Given the description of an element on the screen output the (x, y) to click on. 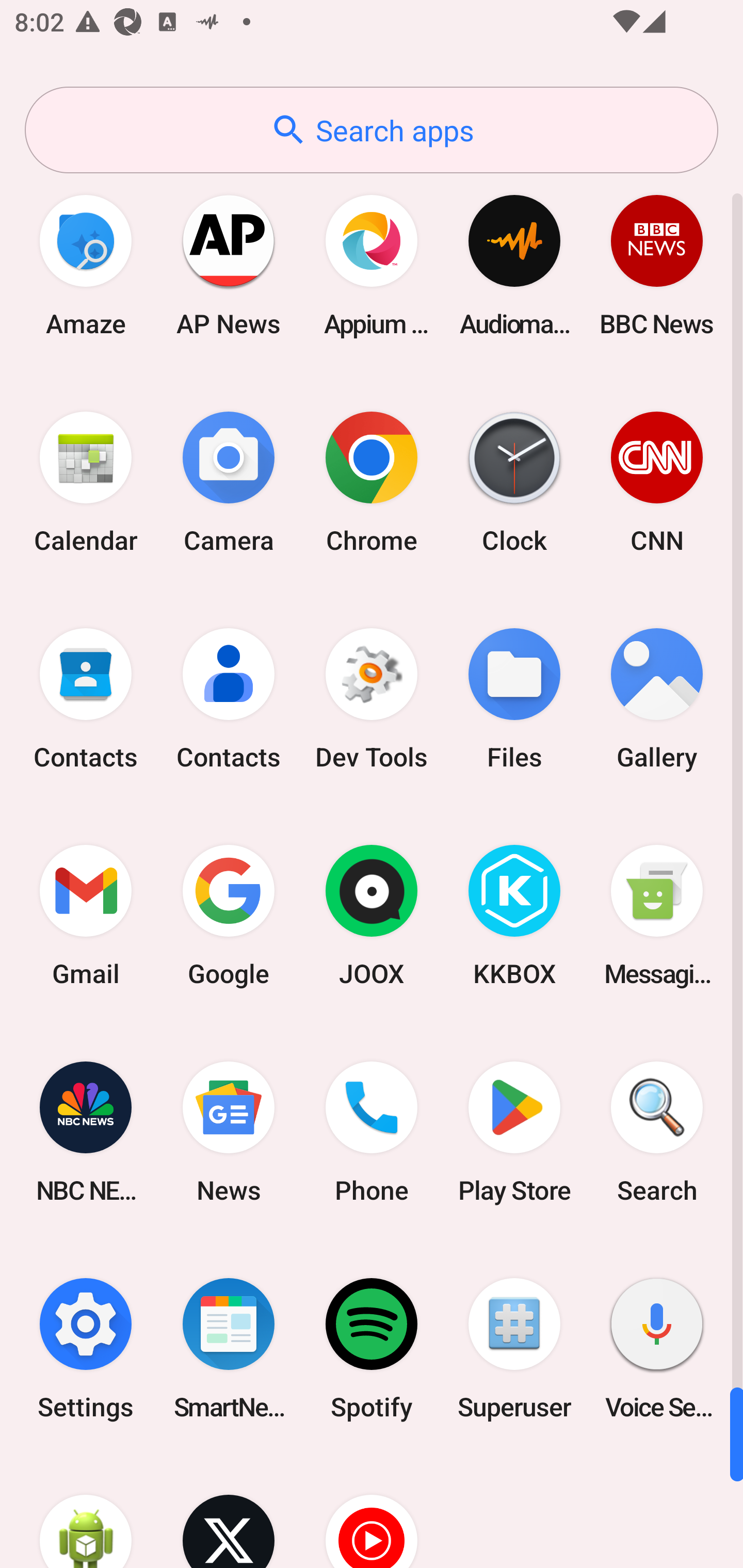
  Search apps (371, 130)
Amaze (85, 264)
AP News (228, 264)
Appium Settings (371, 264)
Audio­mack (514, 264)
BBC News (656, 264)
Calendar (85, 482)
Camera (228, 482)
Chrome (371, 482)
Clock (514, 482)
CNN (656, 482)
Contacts (85, 699)
Contacts (228, 699)
Dev Tools (371, 699)
Files (514, 699)
Gallery (656, 699)
Gmail (85, 915)
Google (228, 915)
JOOX (371, 915)
KKBOX (514, 915)
Messaging (656, 915)
NBC NEWS (85, 1131)
News (228, 1131)
Phone (371, 1131)
Play Store (514, 1131)
Search (656, 1131)
Settings (85, 1348)
SmartNews (228, 1348)
Spotify (371, 1348)
Superuser (514, 1348)
Voice Search (656, 1348)
